Given the description of an element on the screen output the (x, y) to click on. 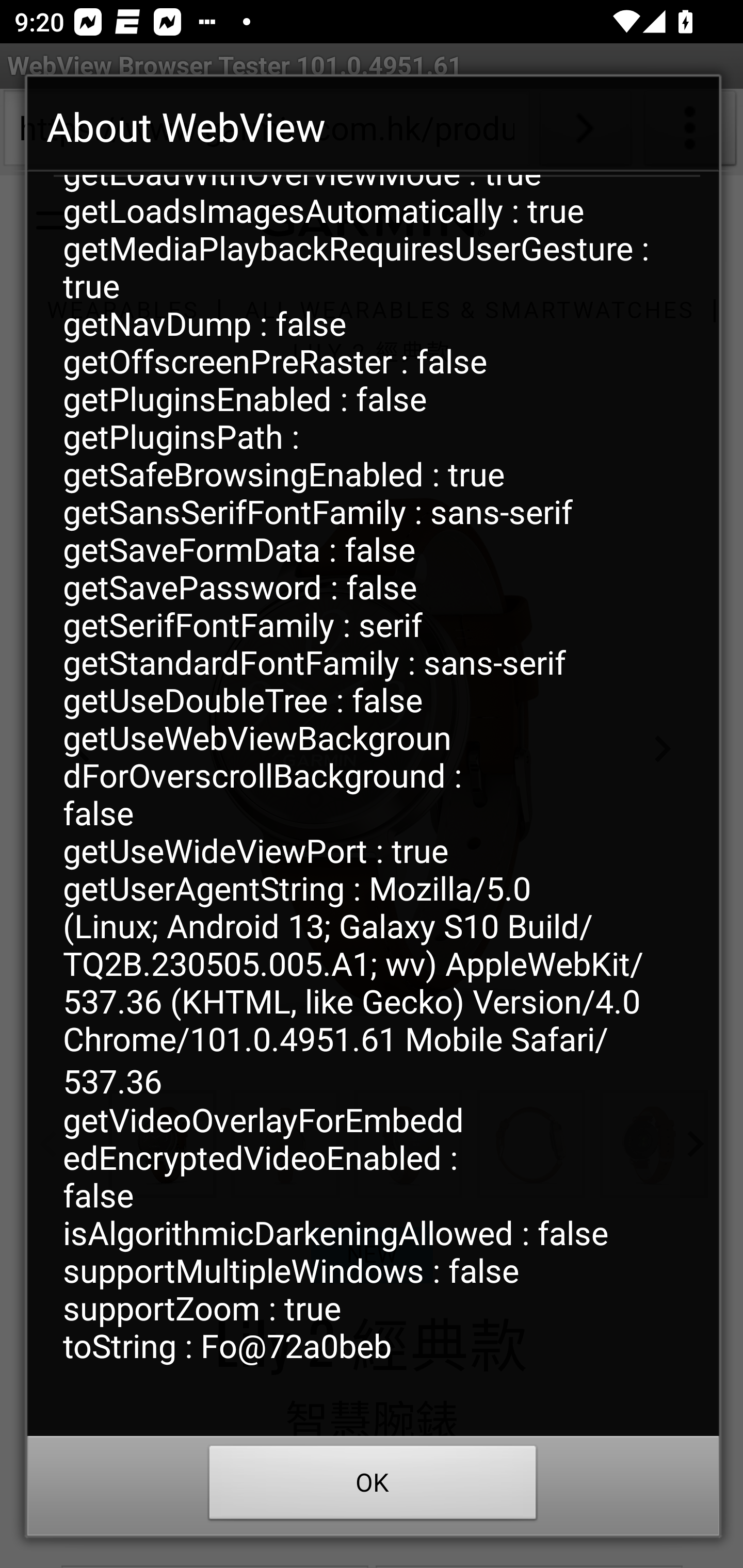
OK (372, 1486)
